Given the description of an element on the screen output the (x, y) to click on. 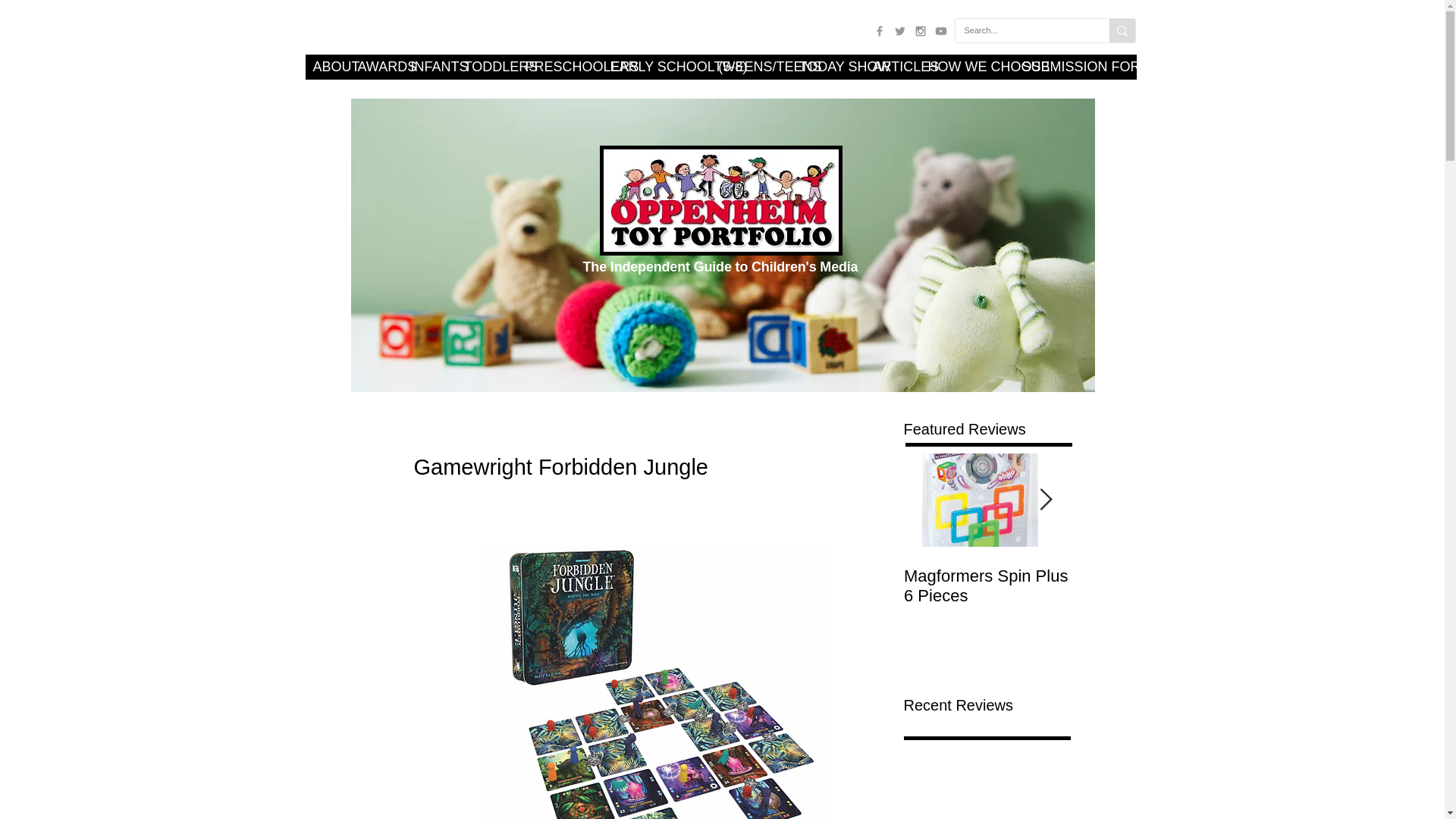
ABOUT (326, 66)
TODDLERS (487, 66)
HOW WE CHOOSE (967, 66)
SUBMISSION FORM (1065, 66)
AWARDS (376, 66)
TODAY SHOW (828, 66)
PRESCHOOLERS (559, 66)
Magformers Spin Plus 6 Pieces (987, 586)
ARTICLES (892, 66)
INFANTS (430, 66)
Signature Edition Bananagrams (1153, 586)
